Given the description of an element on the screen output the (x, y) to click on. 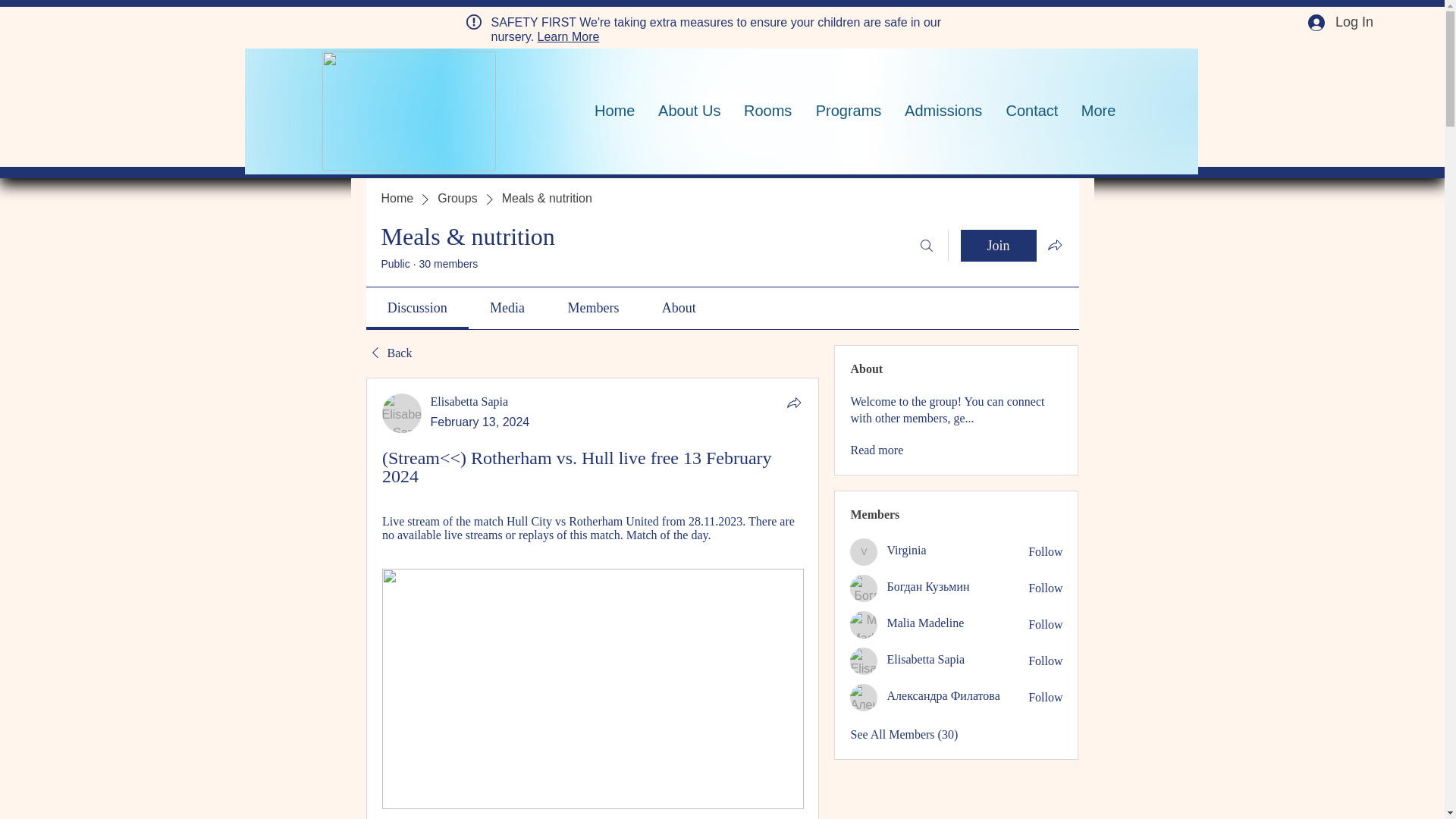
Groups (457, 198)
Elisabetta Sapia (469, 400)
Admissions (942, 110)
Malia Madeline (863, 624)
Follow (1044, 660)
About Us (689, 110)
Elisabetta Sapia (401, 413)
Follow (1044, 624)
Elisabetta Sapia (863, 660)
Rooms (767, 110)
